Given the description of an element on the screen output the (x, y) to click on. 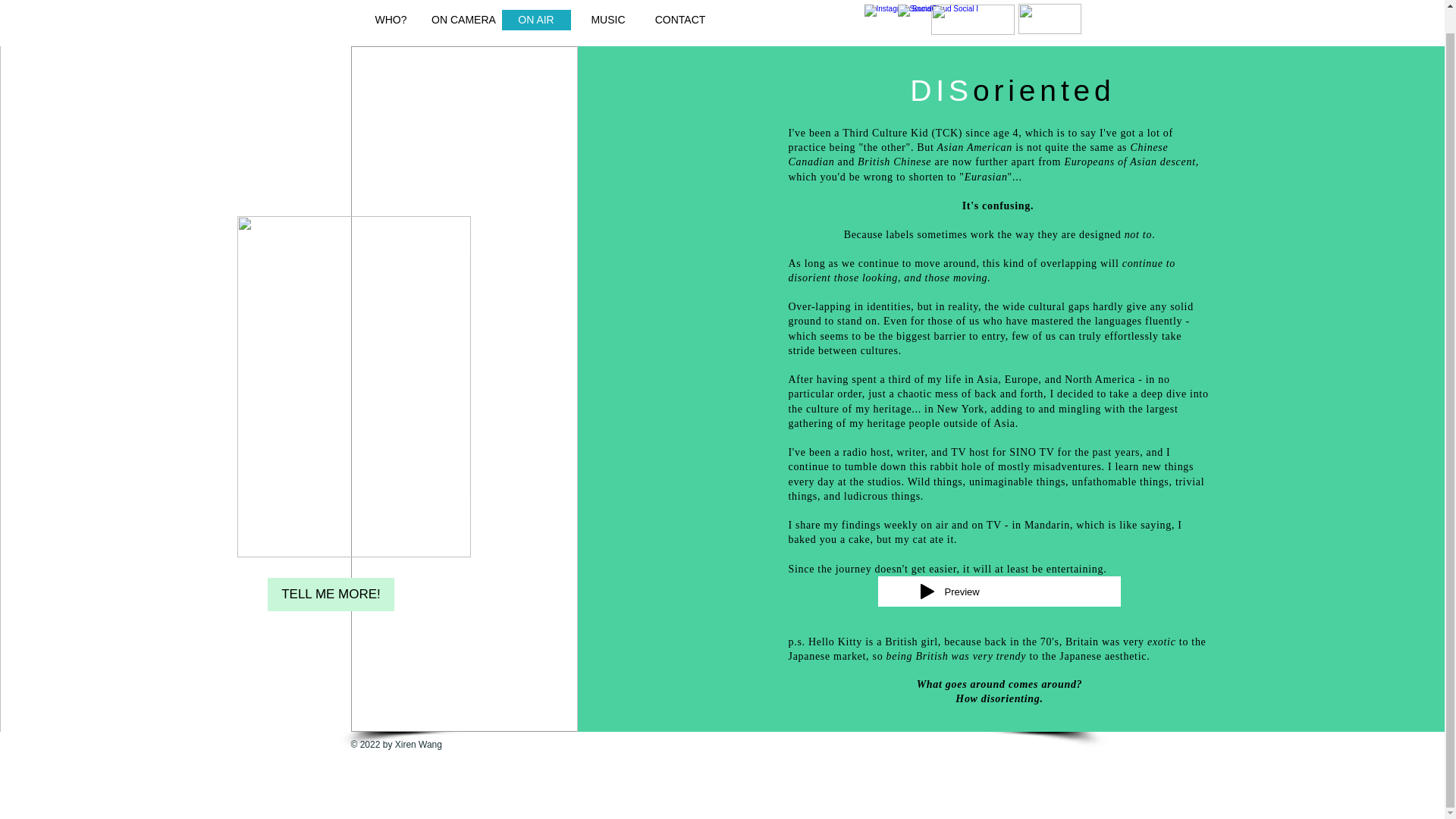
WHO? (391, 19)
Get it on iTunes (972, 19)
ON CAMERA (464, 19)
MUSIC (607, 19)
TELL ME MORE! (330, 594)
CONTACT (680, 19)
ON AIR (536, 19)
